Given the description of an element on the screen output the (x, y) to click on. 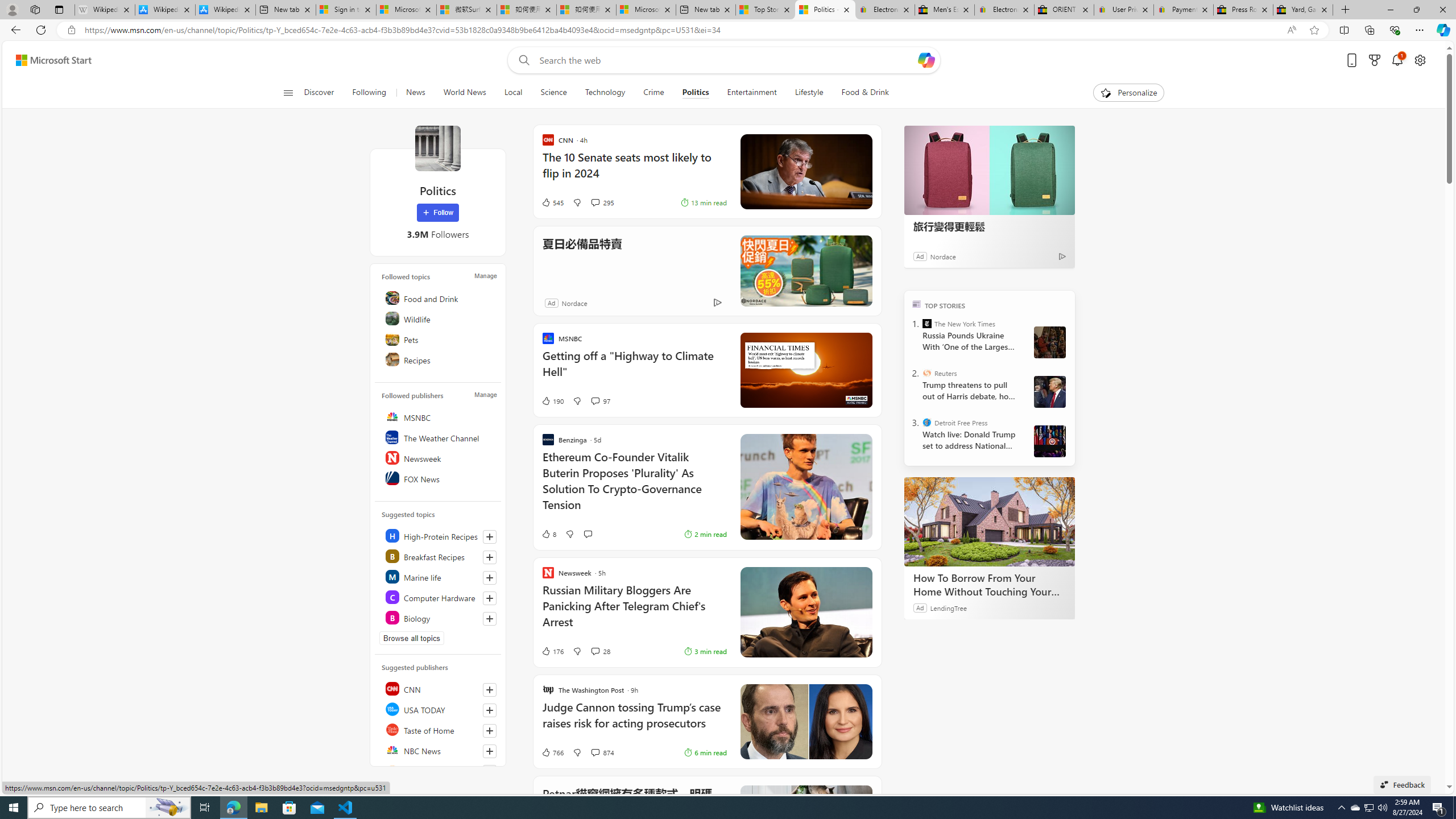
Wildlife (439, 318)
